Given the description of an element on the screen output the (x, y) to click on. 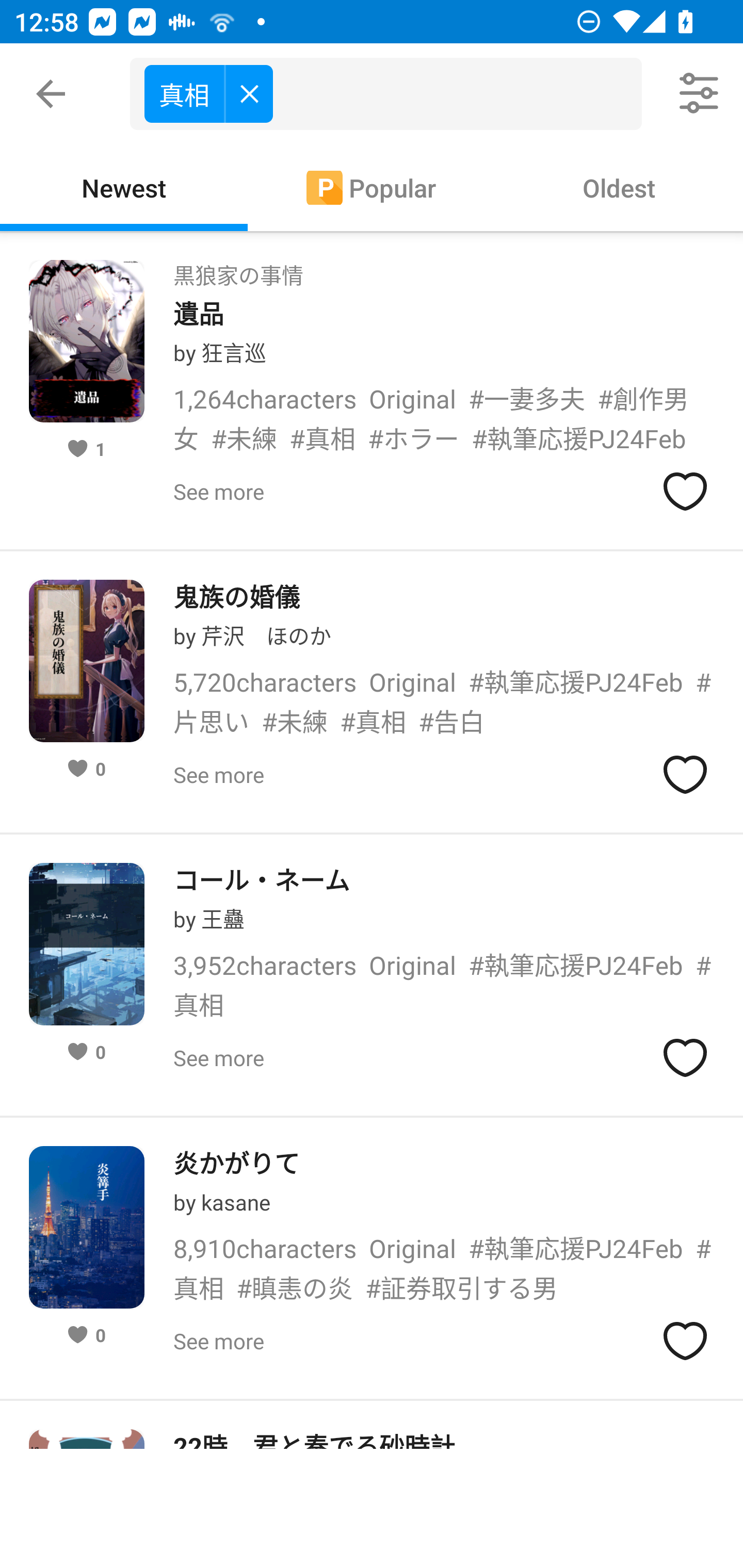
Navigate up (50, 93)
Filters (699, 93)
真相 (392, 94)
真相 (208, 93)
[P] Popular (371, 187)
Oldest (619, 187)
黒狼家の事情 (238, 269)
